Given the description of an element on the screen output the (x, y) to click on. 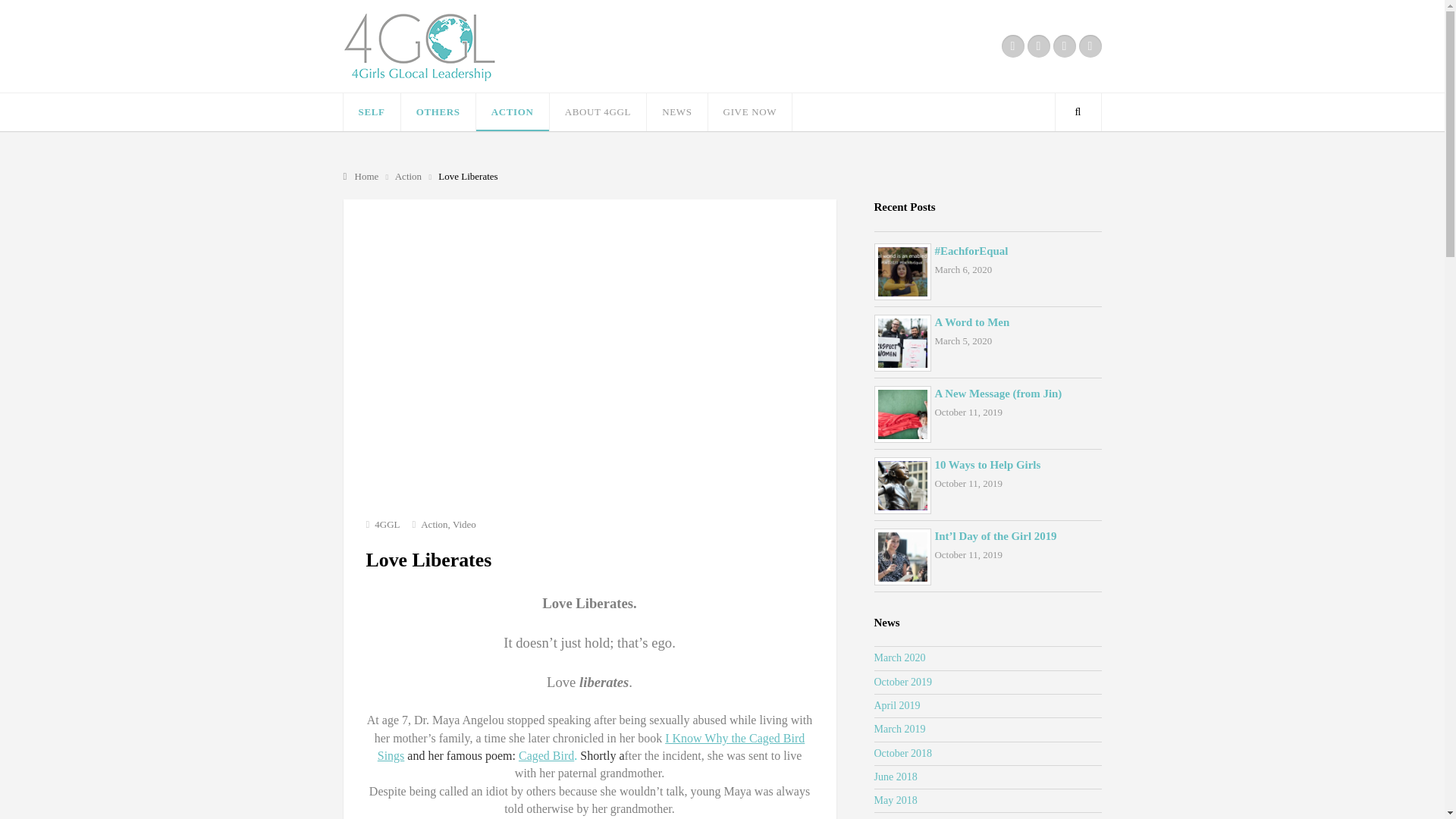
Posts by 4GGL (386, 523)
Video (464, 523)
ACTION (512, 112)
Action (433, 523)
Action (409, 175)
NEWS (676, 112)
Search (1077, 112)
SELF (370, 112)
4GGL (361, 175)
